Given the description of an element on the screen output the (x, y) to click on. 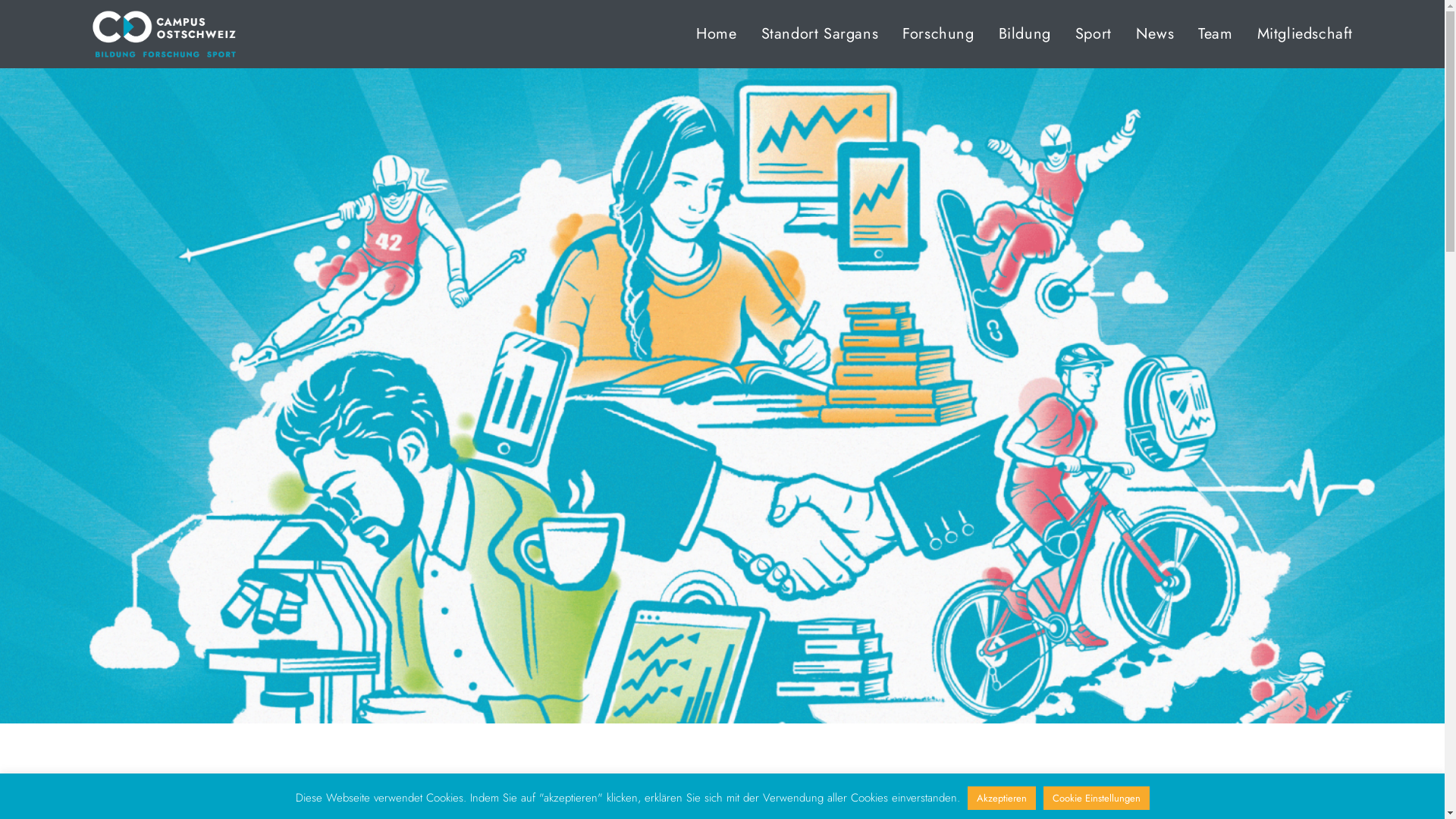
Bildung Element type: text (1024, 34)
Sport Element type: text (1093, 34)
Standort Sargans Element type: text (820, 34)
Akzeptieren Element type: text (1001, 797)
Cookie Einstellungen Element type: text (1096, 797)
Team Element type: text (1215, 34)
News Element type: text (1154, 34)
Home Element type: text (716, 34)
Mitgliedschaft Element type: text (1305, 34)
Forschung Element type: text (937, 34)
